Given the description of an element on the screen output the (x, y) to click on. 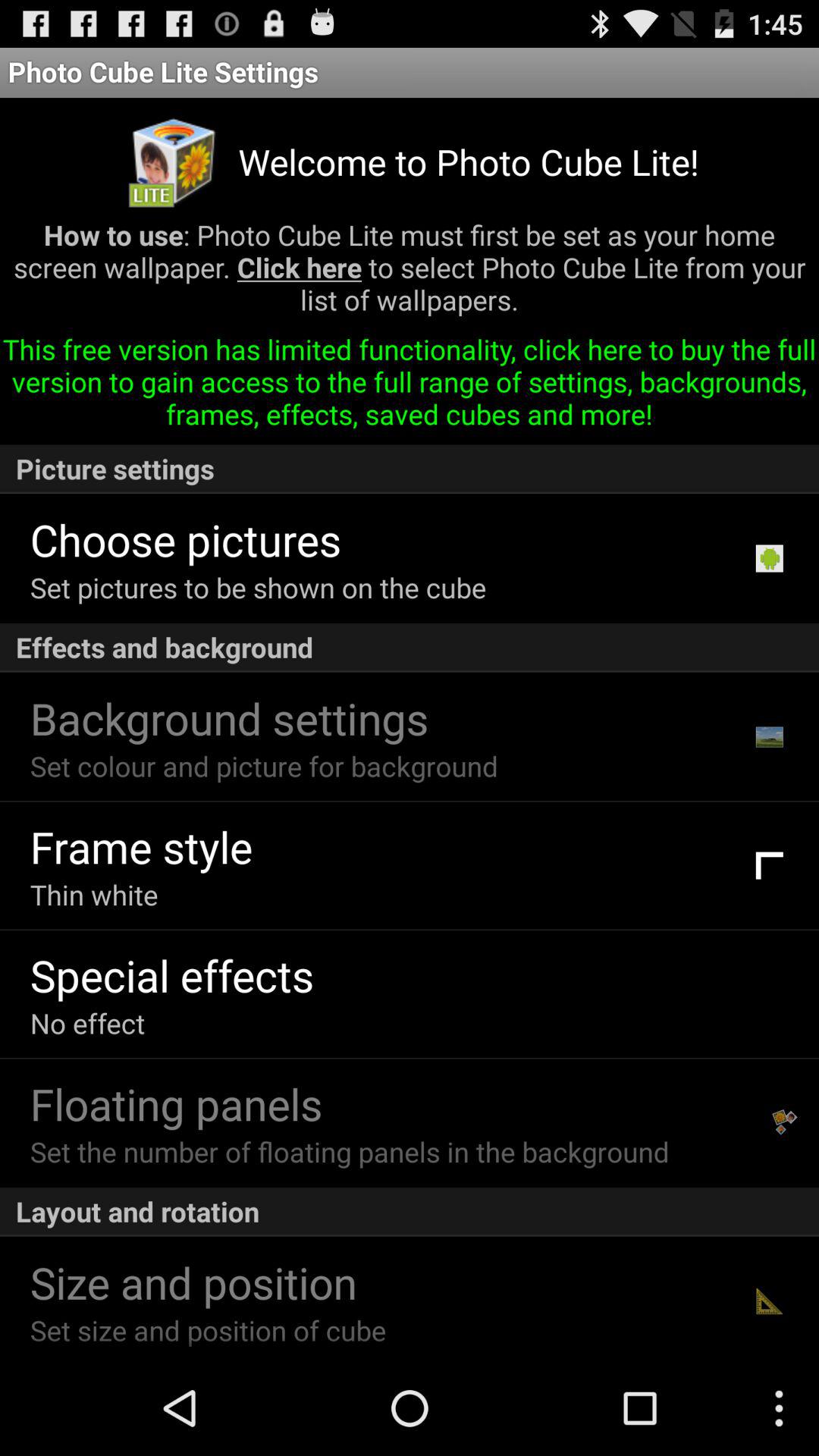
open item next to set the number (785, 1122)
